Given the description of an element on the screen output the (x, y) to click on. 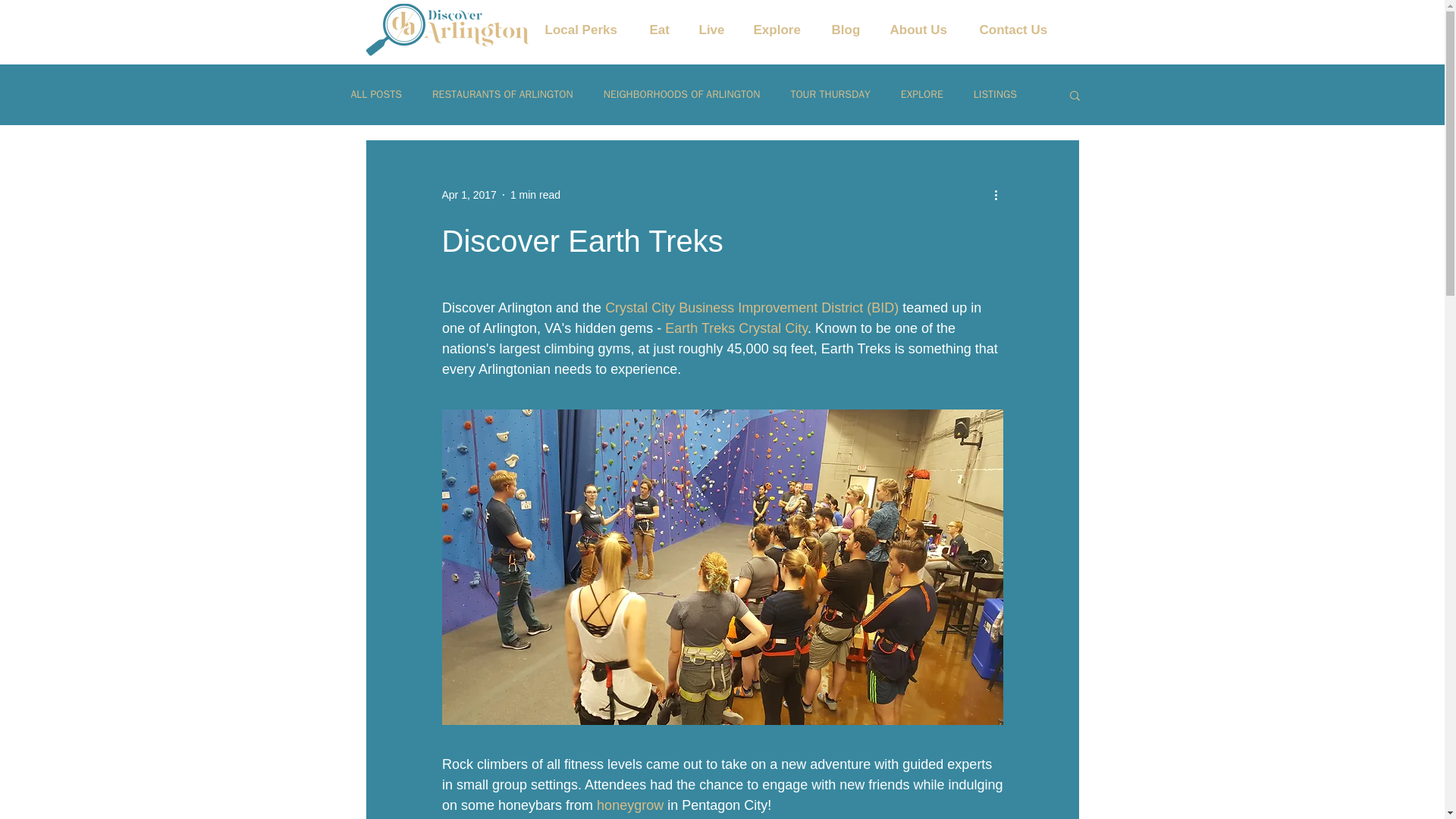
Contact Us (1021, 30)
Earth Treks Crystal City (736, 328)
Live (718, 30)
Local Perks (589, 30)
About Us (927, 30)
Eat (666, 30)
Apr 1, 2017 (468, 193)
EXPLORE (922, 94)
TOUR THURSDAY (829, 94)
Explore (784, 30)
LISTINGS (995, 94)
RESTAURANTS OF ARLINGTON (502, 94)
ALL POSTS (375, 94)
NEIGHBORHOODS OF ARLINGTON (682, 94)
honeygrow (629, 805)
